Given the description of an element on the screen output the (x, y) to click on. 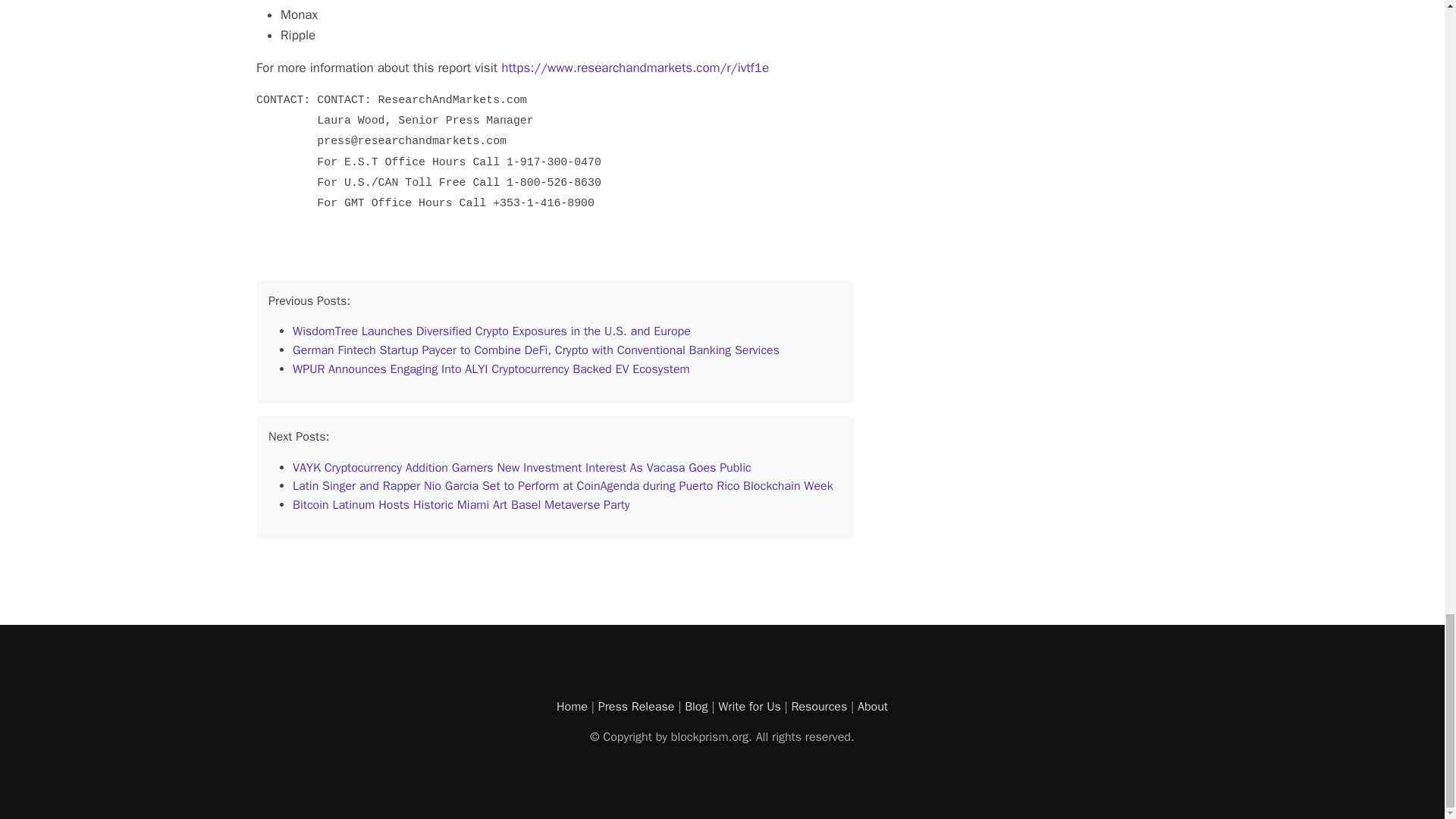
Press Release (636, 706)
Home (572, 706)
Blog (695, 706)
About (872, 706)
Resources (818, 706)
